Given the description of an element on the screen output the (x, y) to click on. 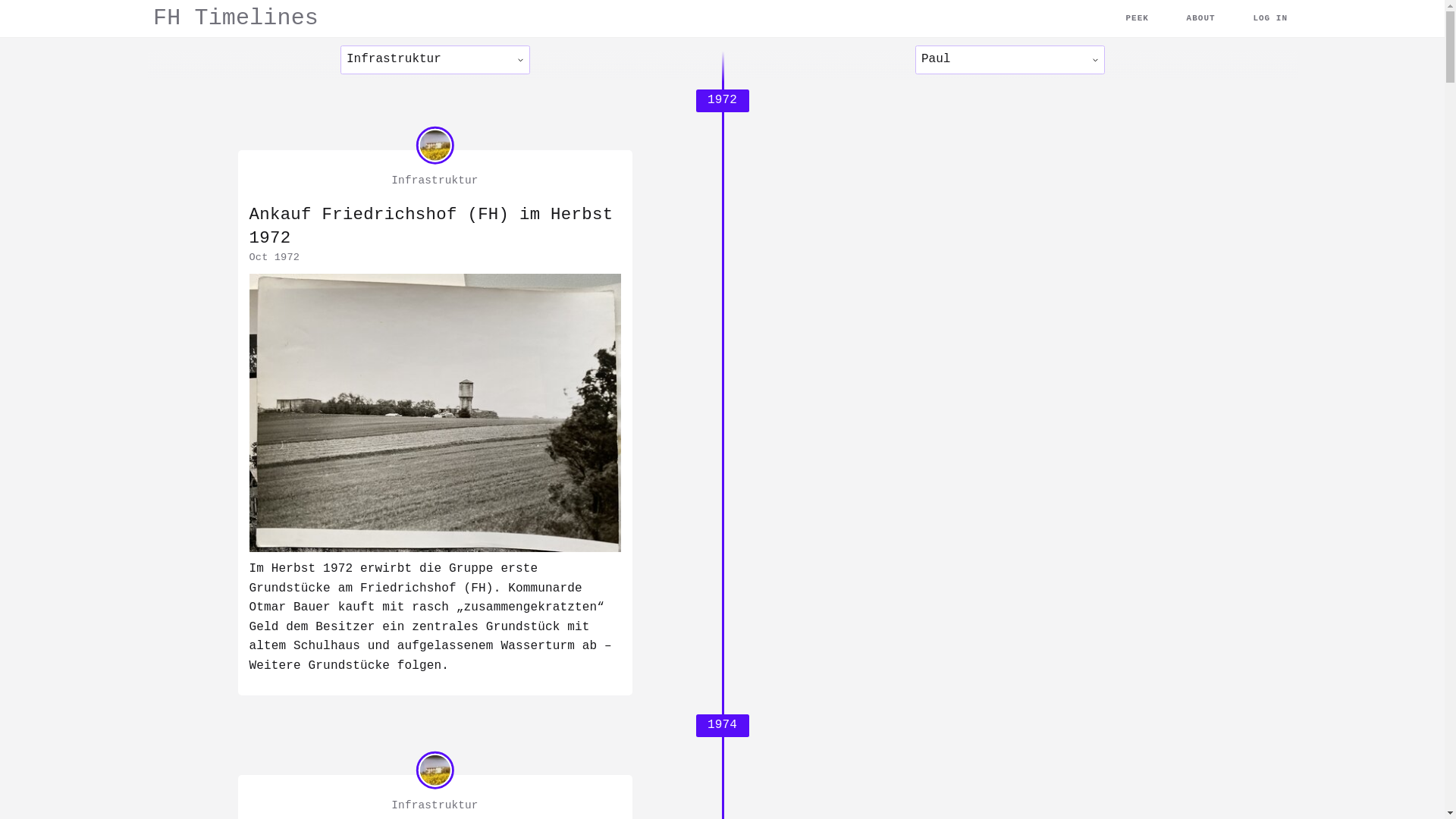
FH Timelines Element type: text (235, 18)
ABOUT Element type: text (1200, 17)
LOG IN Element type: text (1269, 17)
PEEK Element type: text (1136, 17)
